Given the description of an element on the screen output the (x, y) to click on. 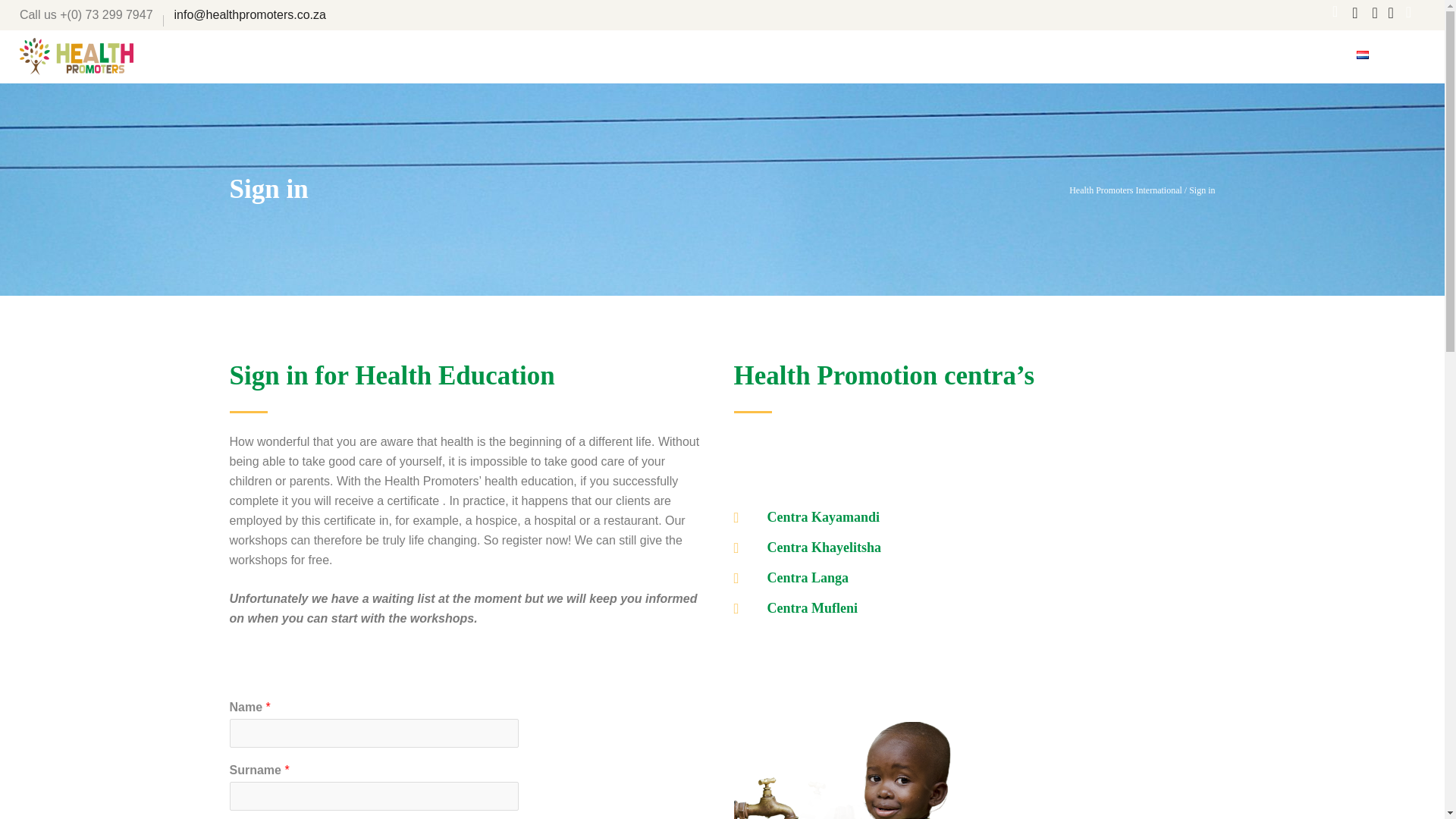
News (753, 56)
How we educate (931, 56)
handen wassen zonder kraan 6def (846, 770)
What we teach (827, 56)
Home (703, 56)
Our people (1025, 56)
Support us with your company (1256, 56)
Annual Report (1114, 56)
Donate (1407, 56)
